Given the description of an element on the screen output the (x, y) to click on. 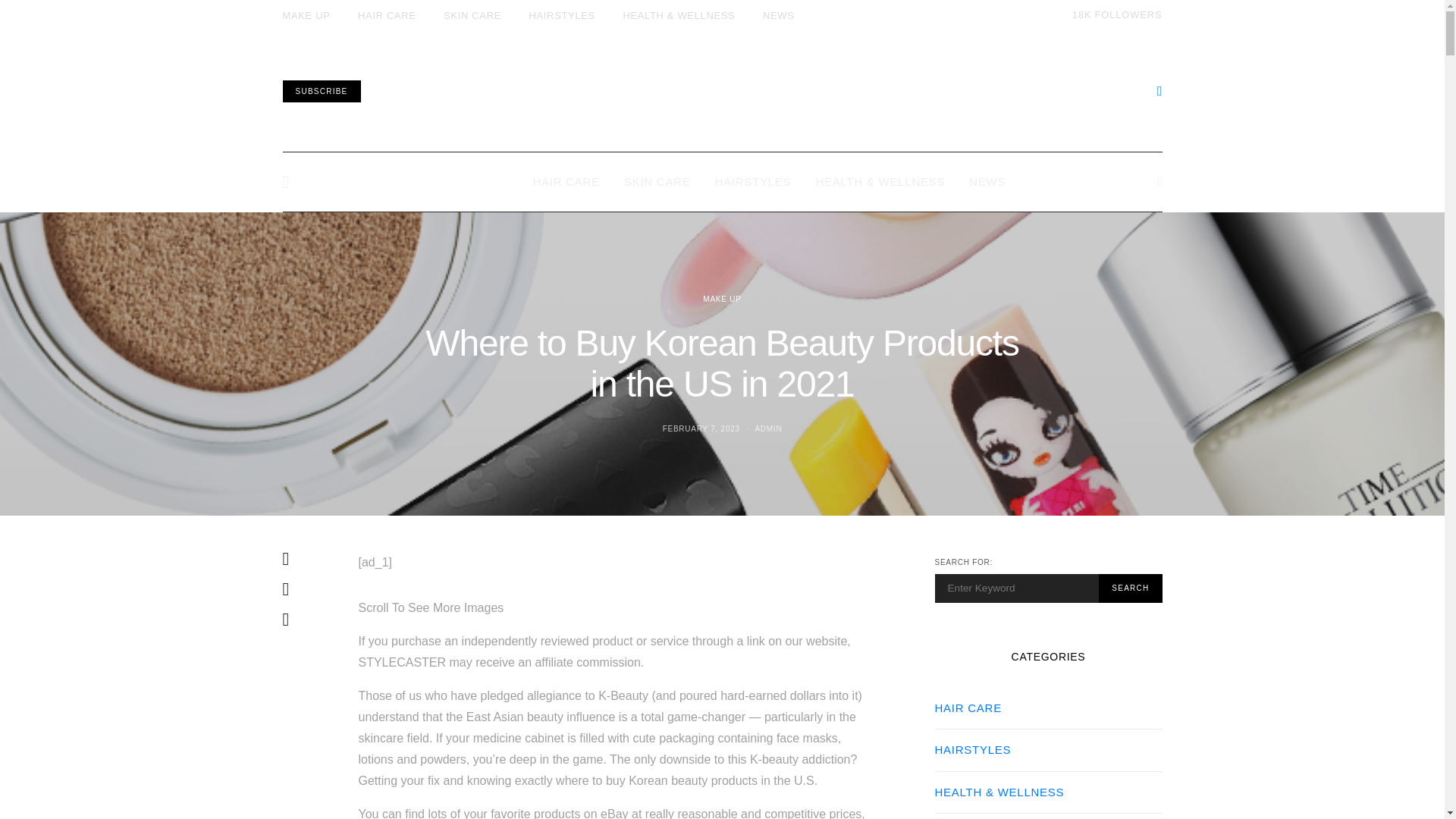
HAIR CARE (387, 15)
ADMIN (767, 429)
NEWS (987, 181)
View all posts by admin (767, 429)
NEWS (778, 15)
HAIRSTYLES (562, 15)
Scroll To See More Images (615, 608)
SKIN CARE (657, 181)
SKIN CARE (472, 15)
FEBRUARY 7, 2023 (700, 429)
HAIRSTYLES (752, 181)
HouseForBeauties. (721, 91)
MAKE UP (722, 298)
HAIR CARE (1112, 15)
